Given the description of an element on the screen output the (x, y) to click on. 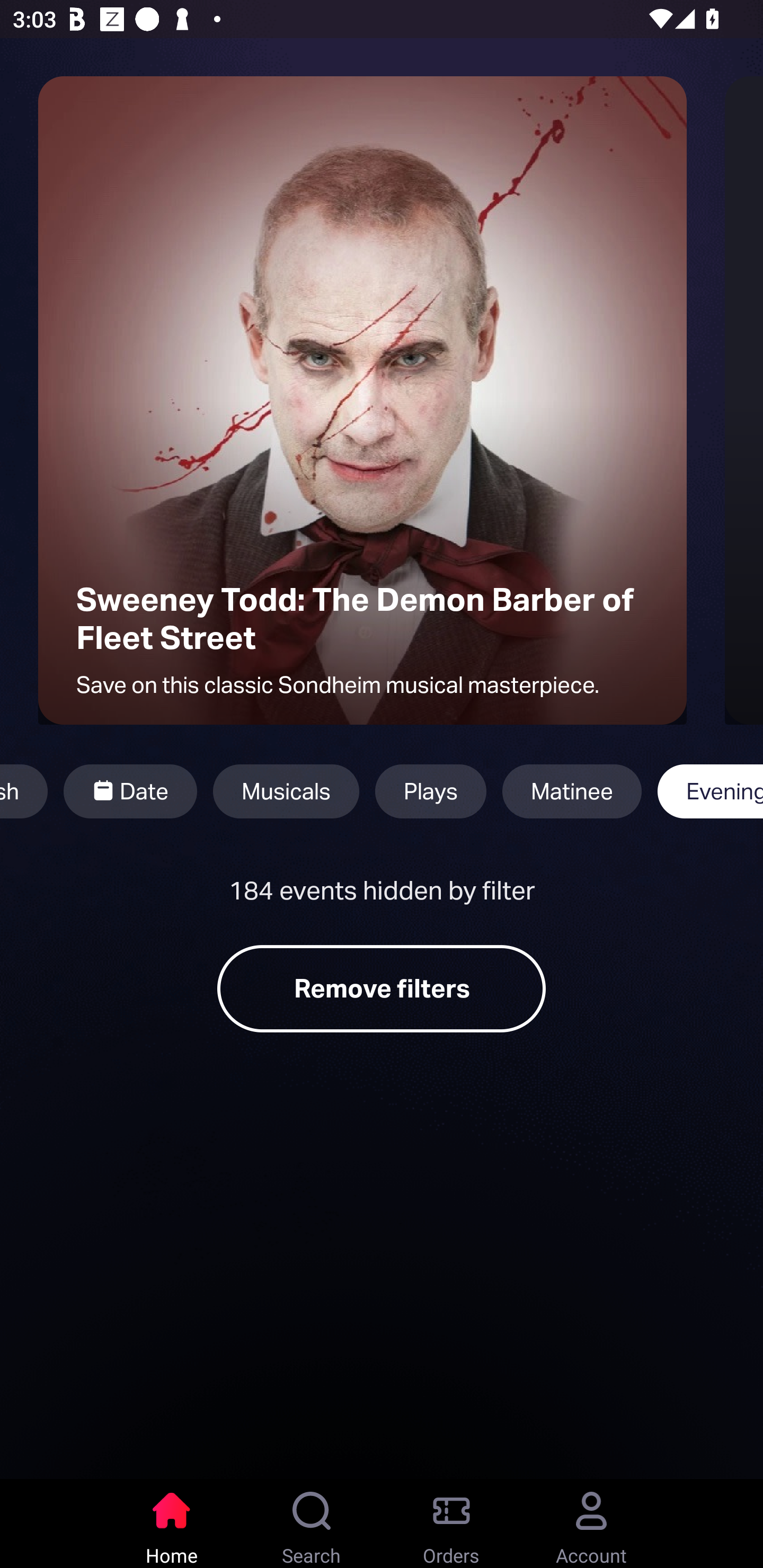
Date (129, 791)
Musicals (285, 791)
Plays (430, 791)
Matinee (571, 791)
Remove filters (381, 988)
Search (311, 1523)
Orders (451, 1523)
Account (591, 1523)
